Given the description of an element on the screen output the (x, y) to click on. 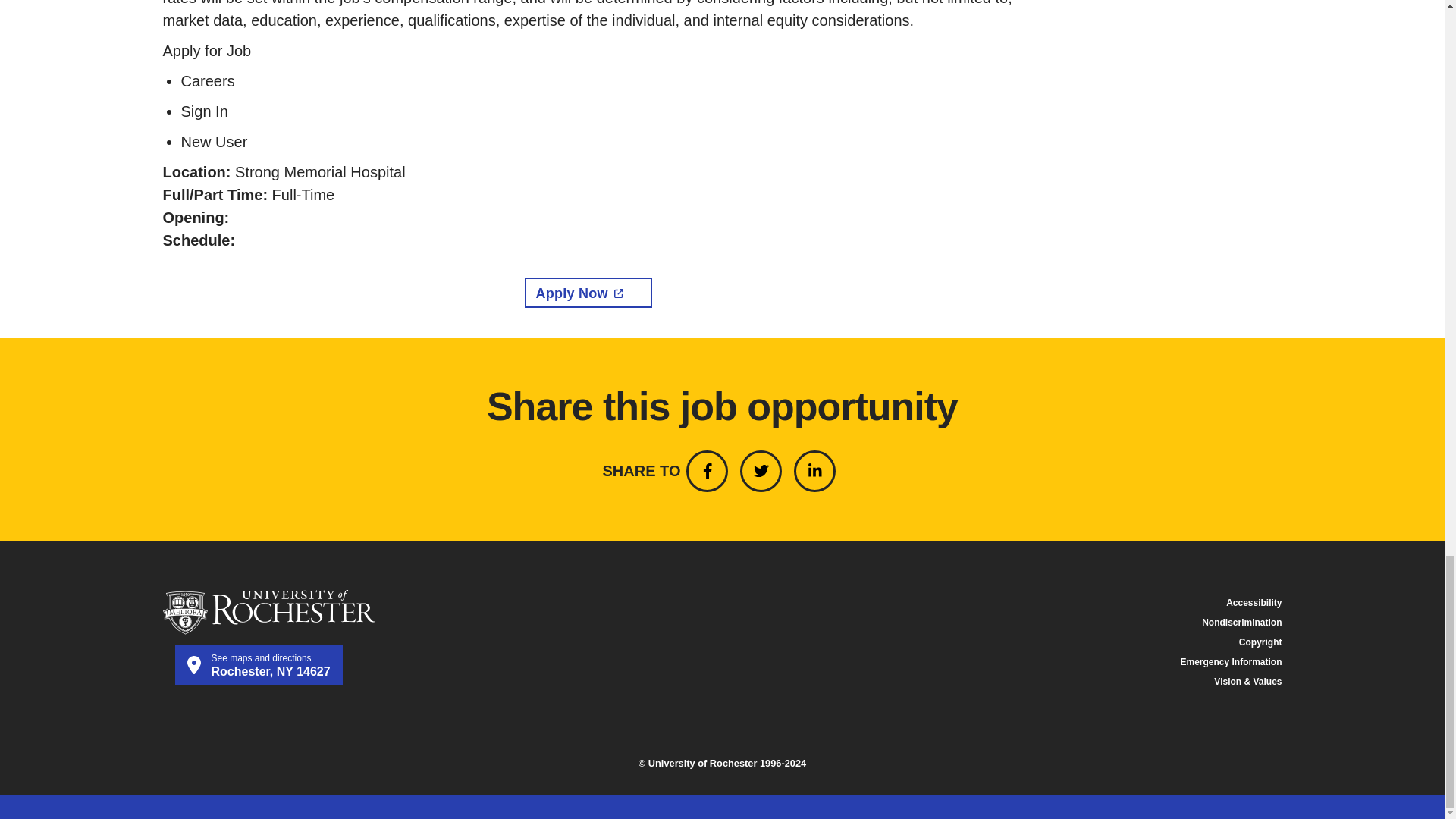
Accessibility (1253, 602)
Apply Now (588, 292)
Copyright (258, 664)
Emergency Information (1260, 642)
Nondiscrimination (1230, 661)
